Given the description of an element on the screen output the (x, y) to click on. 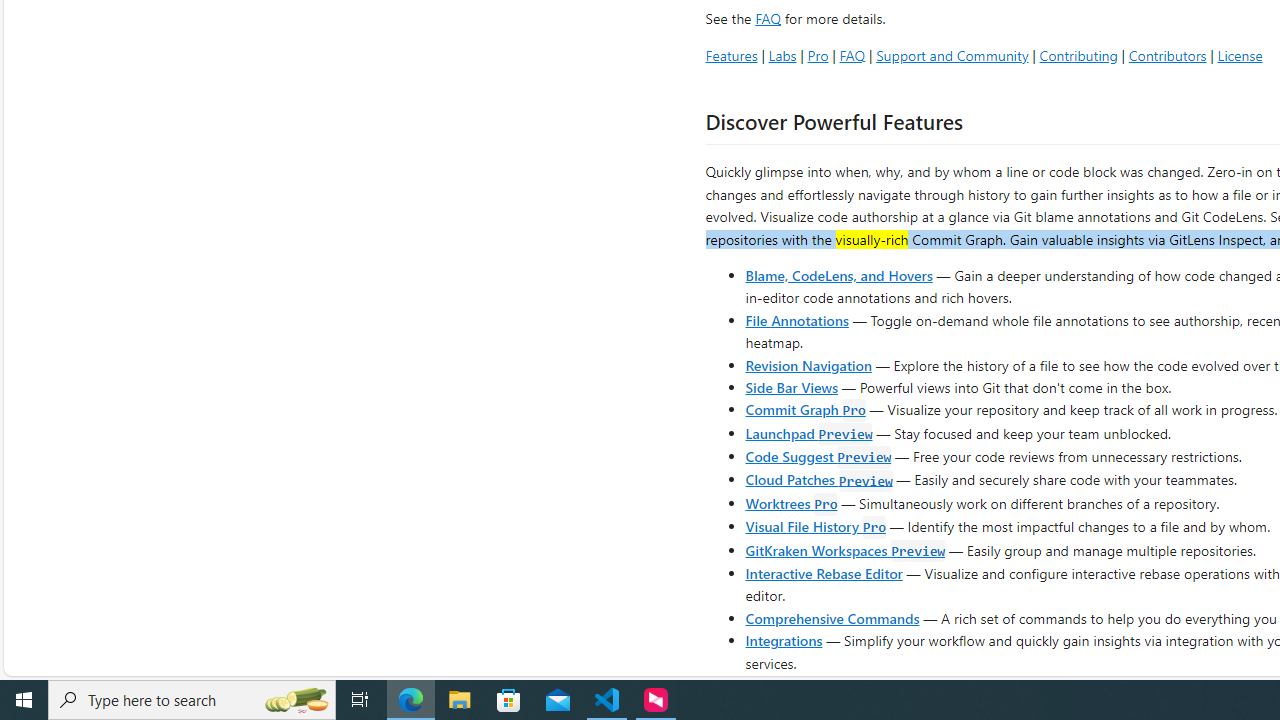
Contributing (1078, 382)
Pro (817, 382)
Labs (782, 382)
Contributors (1167, 382)
FAQ (852, 382)
trial or paid plan (973, 285)
Support and Community (952, 382)
Blame, CodeLens, and Hovers (838, 602)
License (1240, 382)
Features (731, 382)
File Annotations (796, 647)
